Given the description of an element on the screen output the (x, y) to click on. 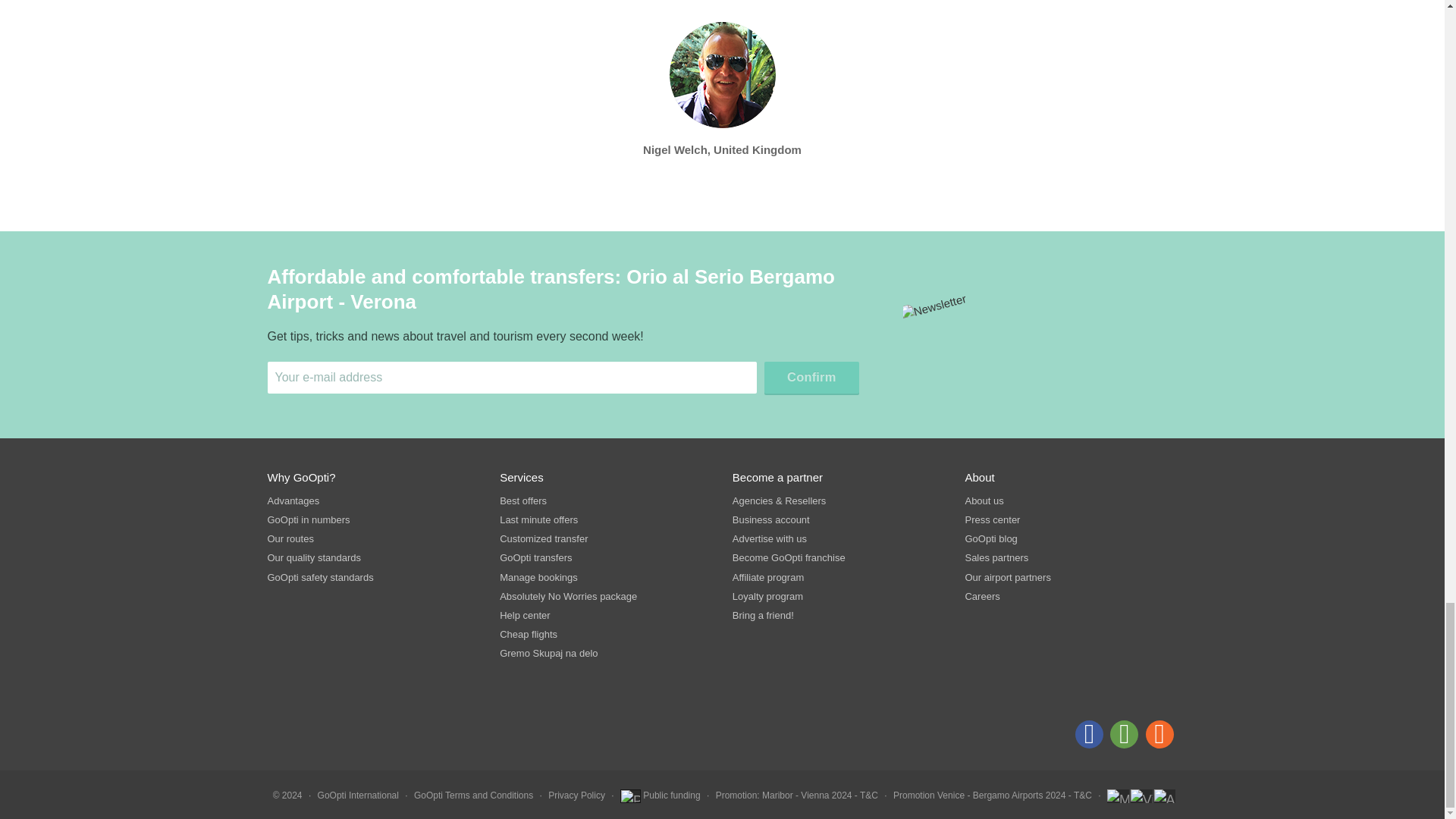
Advantages (372, 500)
MasterCard (1117, 796)
GoOpti safety standards (372, 577)
Trip Advisor (1123, 734)
Confirm (811, 377)
Instagram (1158, 734)
Facebook (1089, 734)
Customized transfer (605, 539)
Visa (1142, 796)
Our routes (372, 539)
Best offers (605, 500)
GoOpti in numbers (372, 520)
American Express (1165, 796)
Last minute offers (605, 520)
Our quality standards (372, 558)
